Given the description of an element on the screen output the (x, y) to click on. 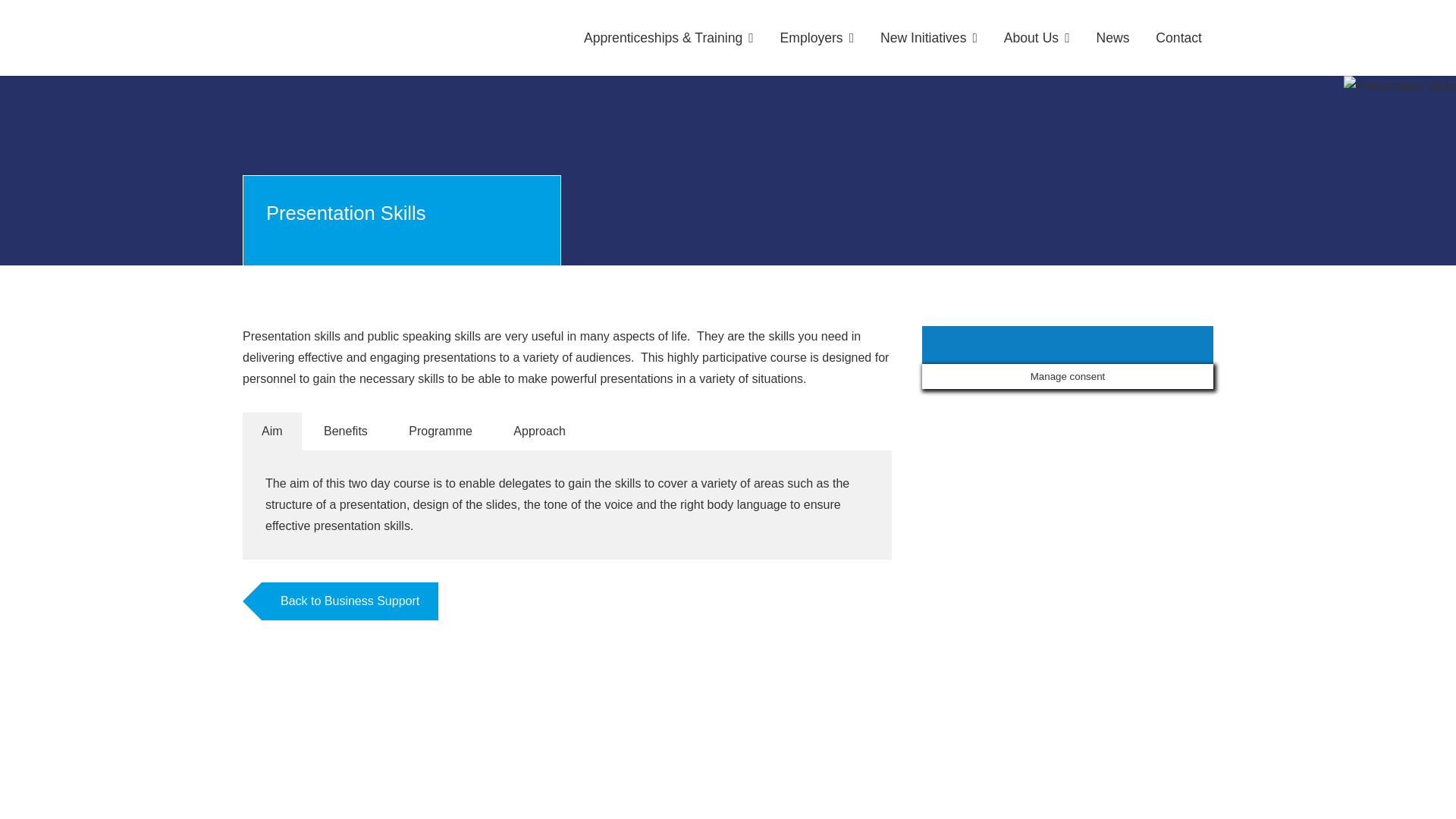
Back to Business Support (350, 600)
Employers (817, 38)
In-Comm Training and Business Services (341, 38)
Contact (1178, 38)
New Initiatives (928, 38)
About Us (1036, 38)
